Given the description of an element on the screen output the (x, y) to click on. 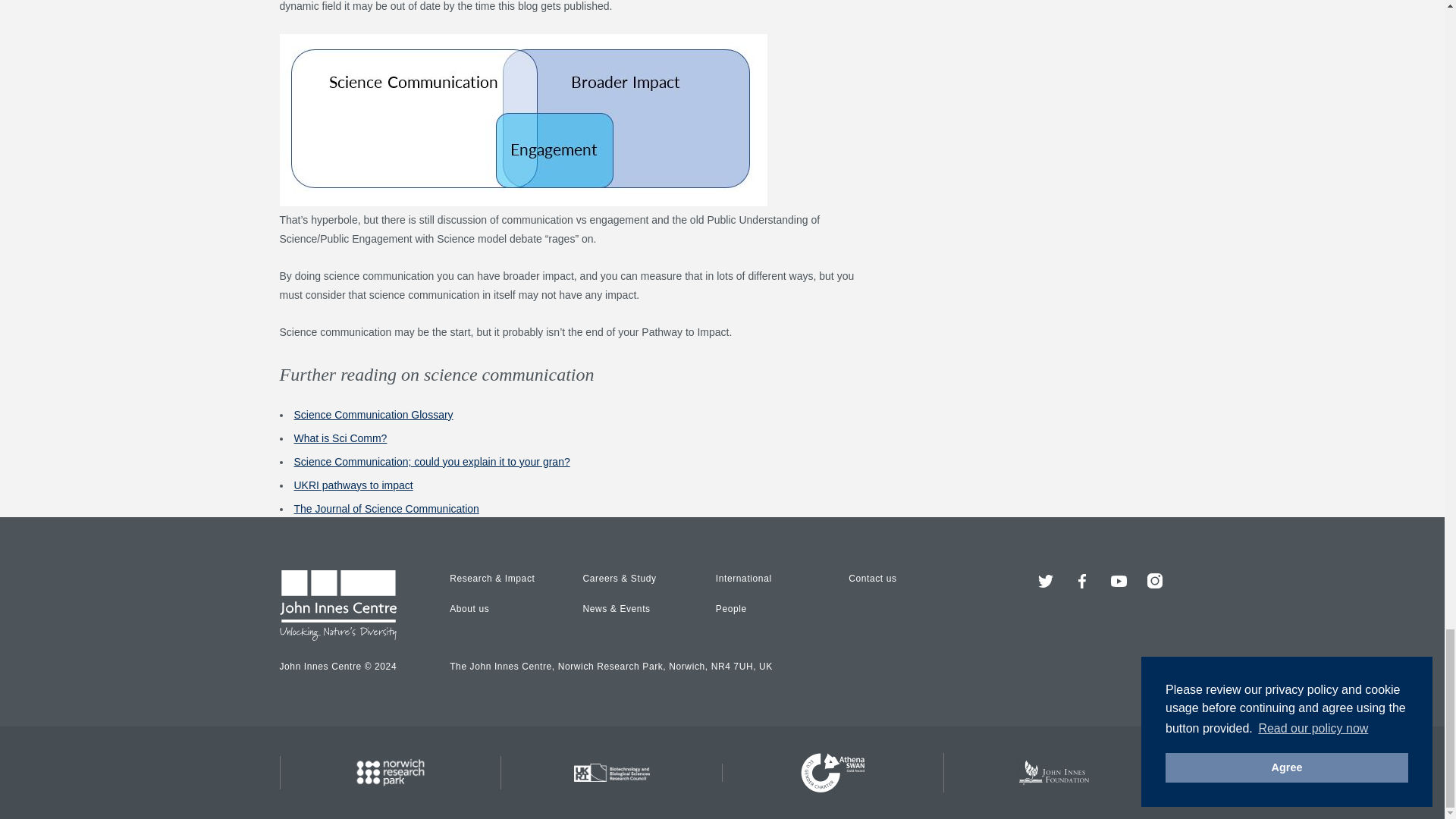
International (743, 578)
UKRI pathways to impact (353, 485)
Science Communication; could you explain it to your gran? (432, 461)
Science Communication Glossary (373, 414)
What is Sci Comm? (340, 438)
Contact us (872, 578)
The Journal of Science Communication (386, 508)
